Given the description of an element on the screen output the (x, y) to click on. 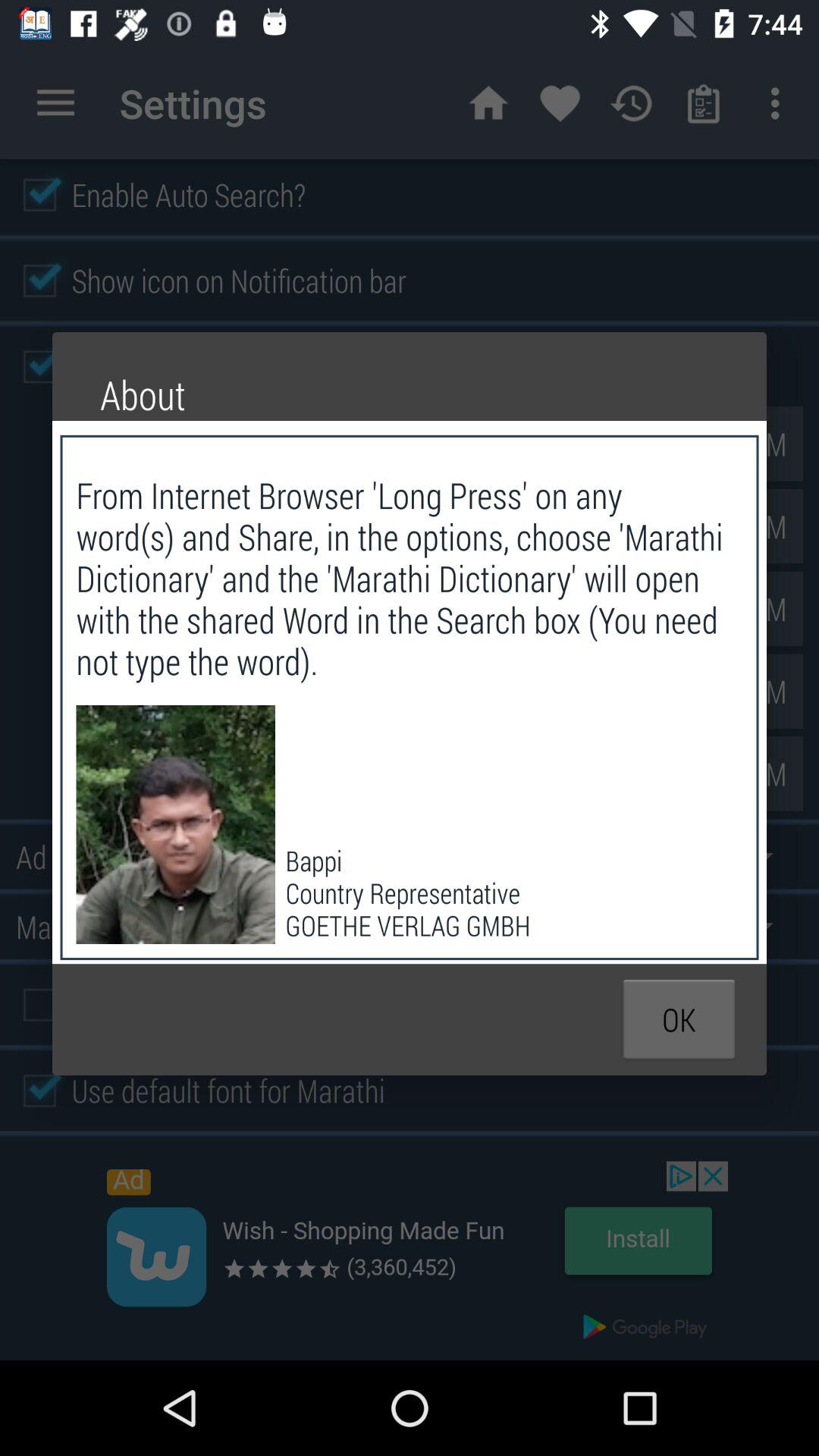
select the icon below the bappi country representative (678, 1019)
